Given the description of an element on the screen output the (x, y) to click on. 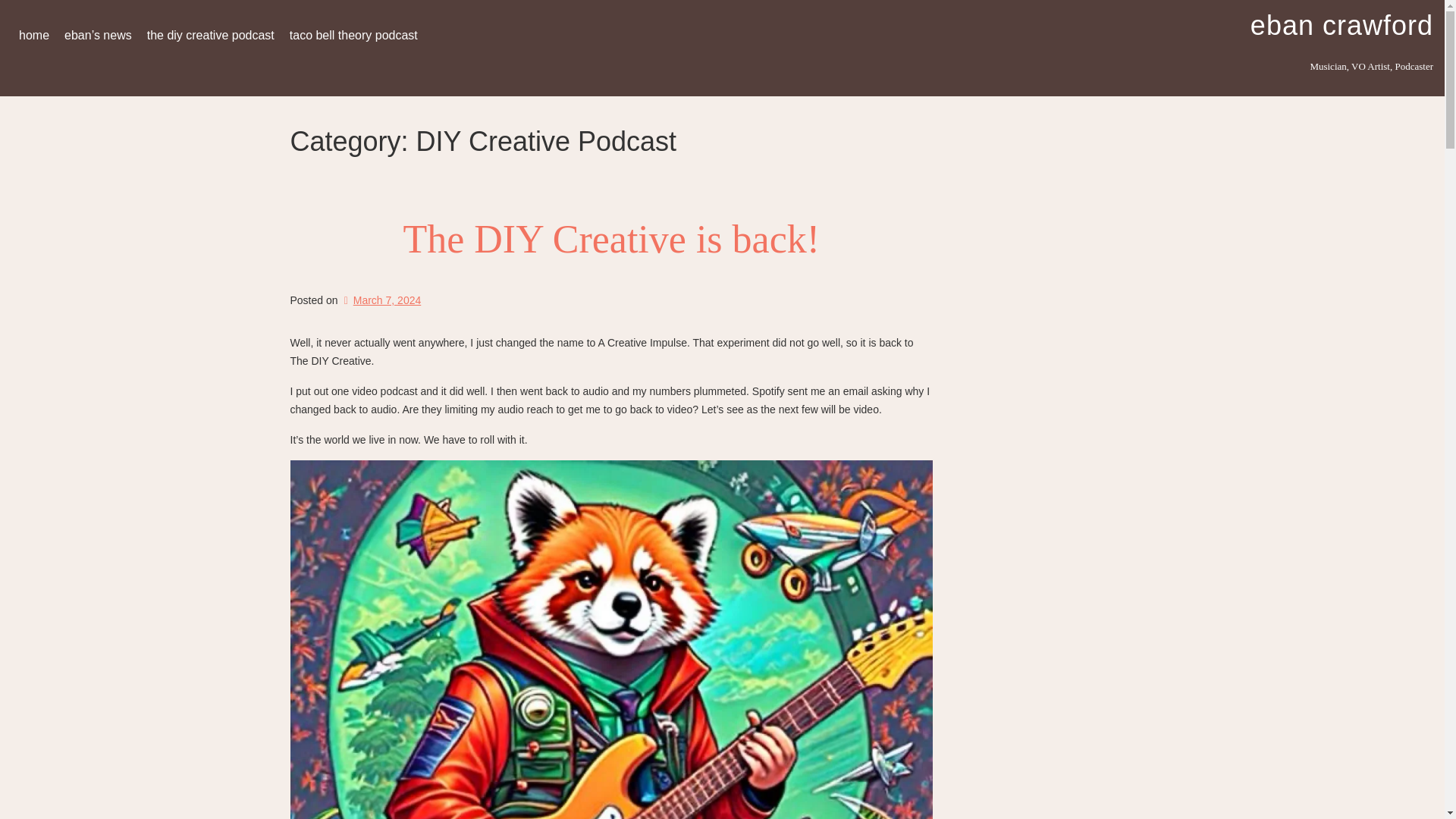
taco bell theory podcast (353, 35)
home (33, 35)
the diy creative podcast (210, 35)
The DIY Creative is back! (611, 239)
March 7, 2024 (380, 300)
eban crawford (1341, 24)
